Given the description of an element on the screen output the (x, y) to click on. 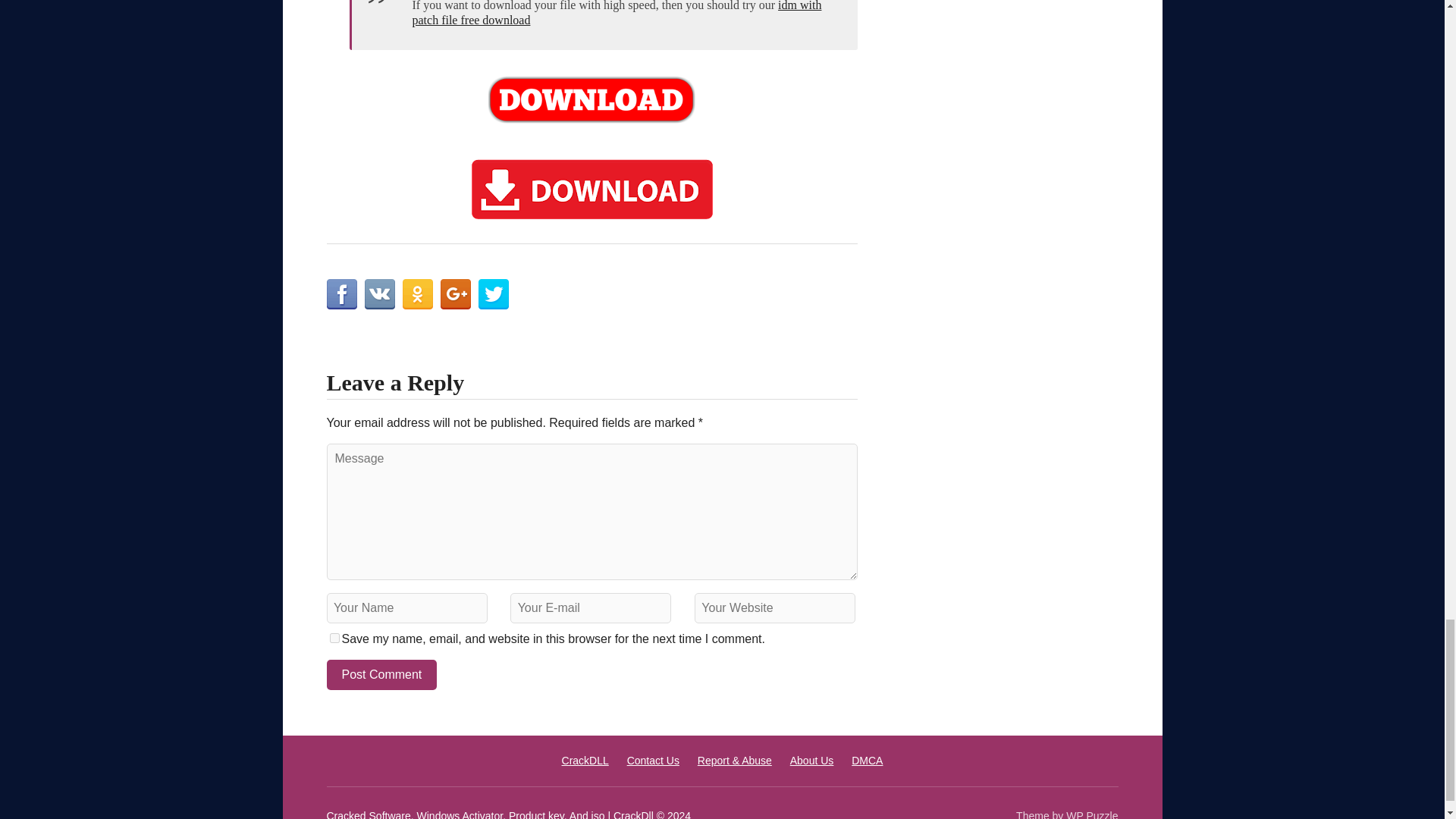
Post Comment (381, 675)
Contact Us (653, 760)
About Us (812, 760)
CrackDLL (585, 760)
Post Comment (381, 675)
Share in Twitter (492, 294)
yes (334, 637)
DMCA (866, 760)
Share in Facebook (341, 294)
Share in OK (416, 294)
